Given the description of an element on the screen output the (x, y) to click on. 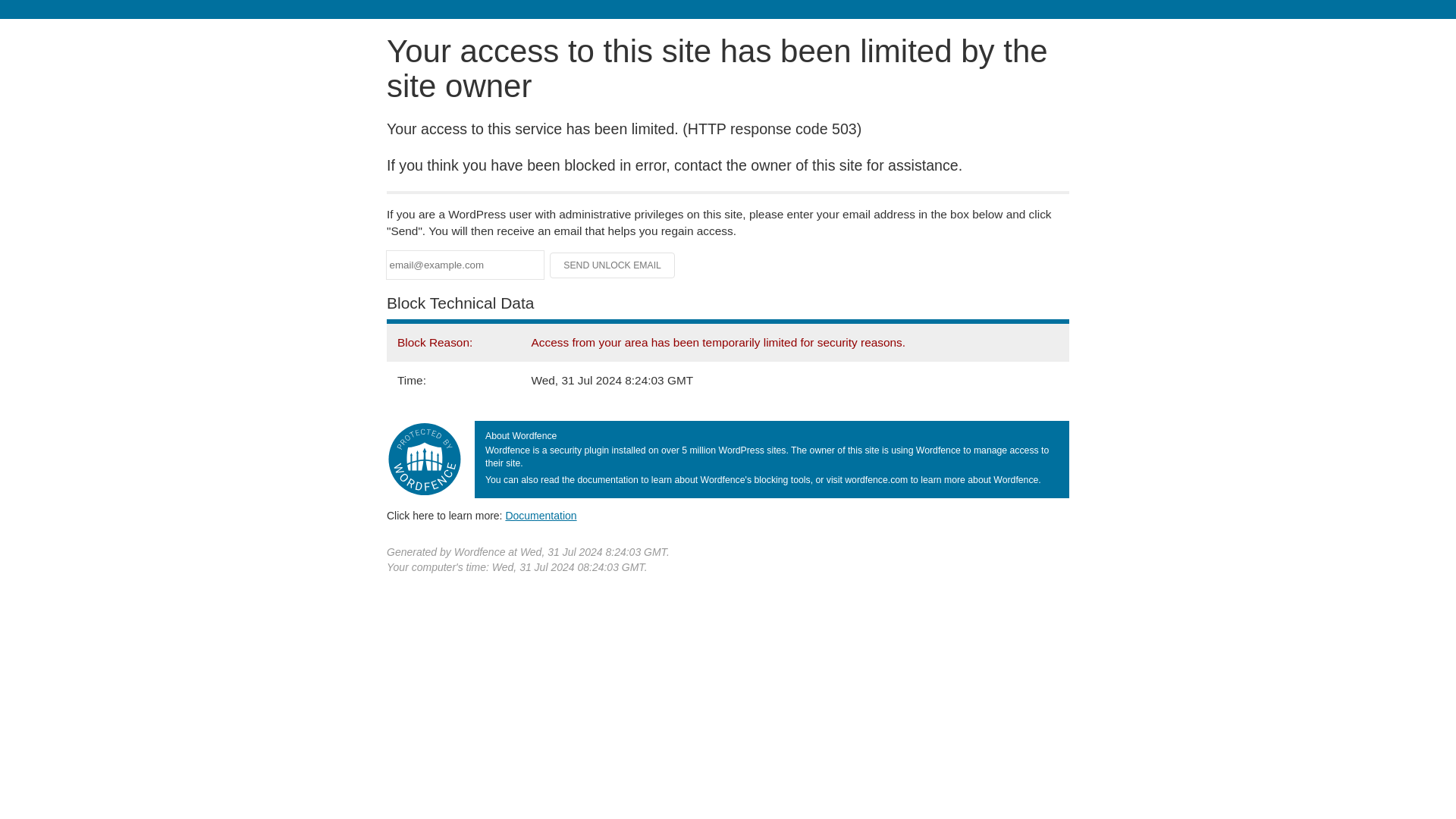
Documentation (540, 515)
Send Unlock Email (612, 265)
Send Unlock Email (612, 265)
